Given the description of an element on the screen output the (x, y) to click on. 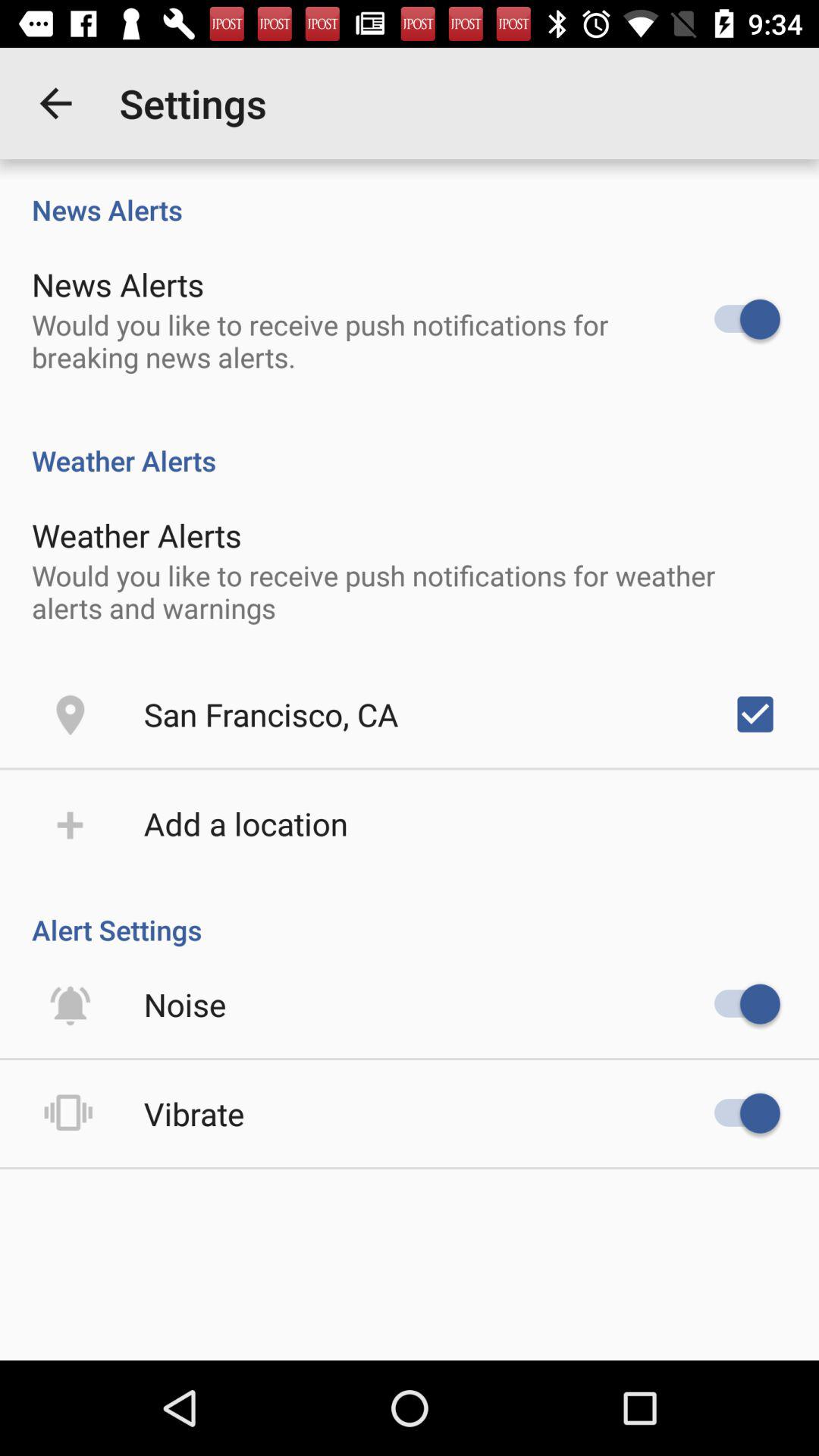
click the san francisco, ca (270, 713)
